Given the description of an element on the screen output the (x, y) to click on. 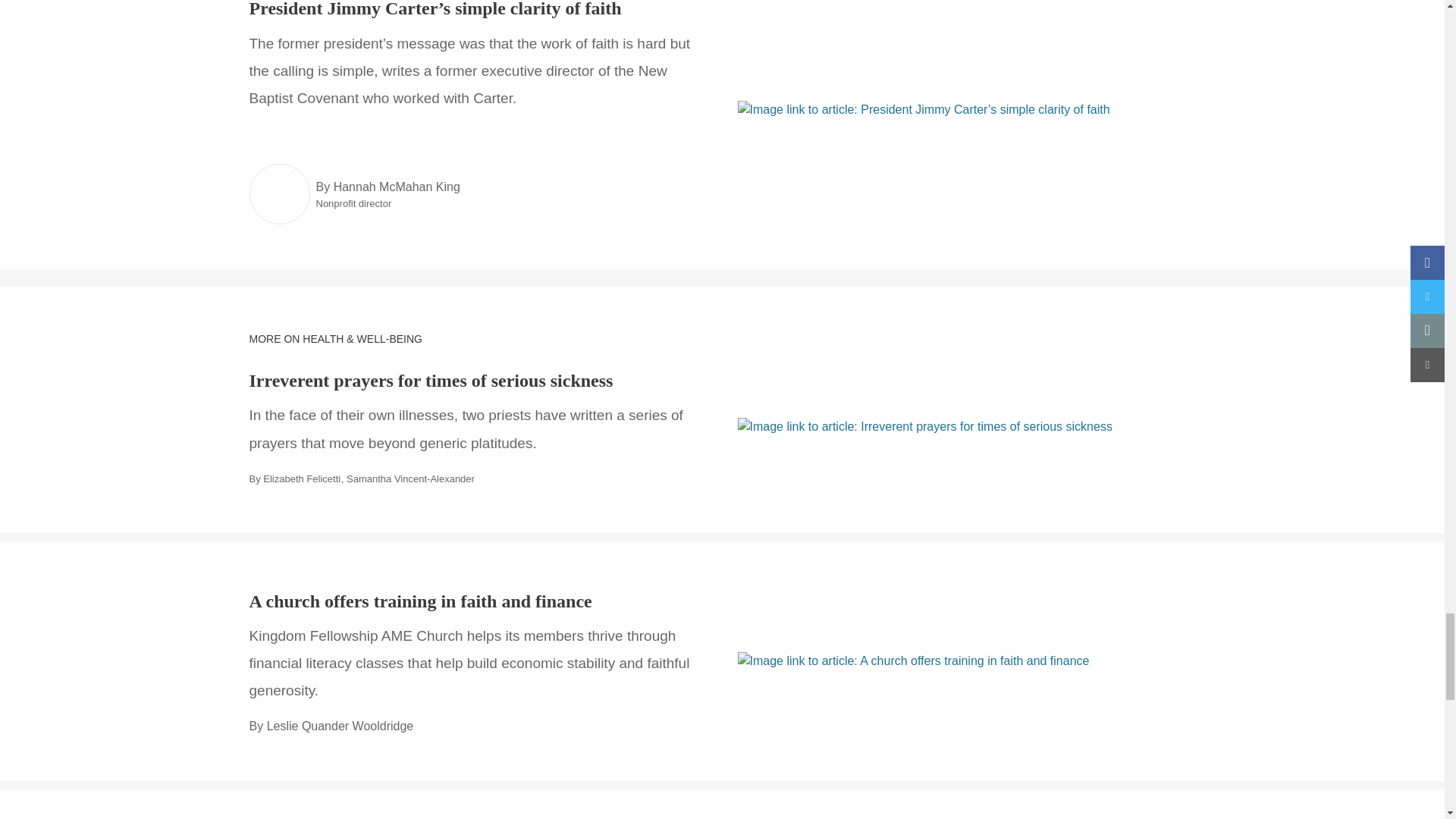
A church offers training in faith and finance (419, 600)
Irreverent prayers for times of serious sickness (430, 380)
Link to author Hannah McMahan King (278, 193)
